Given the description of an element on the screen output the (x, y) to click on. 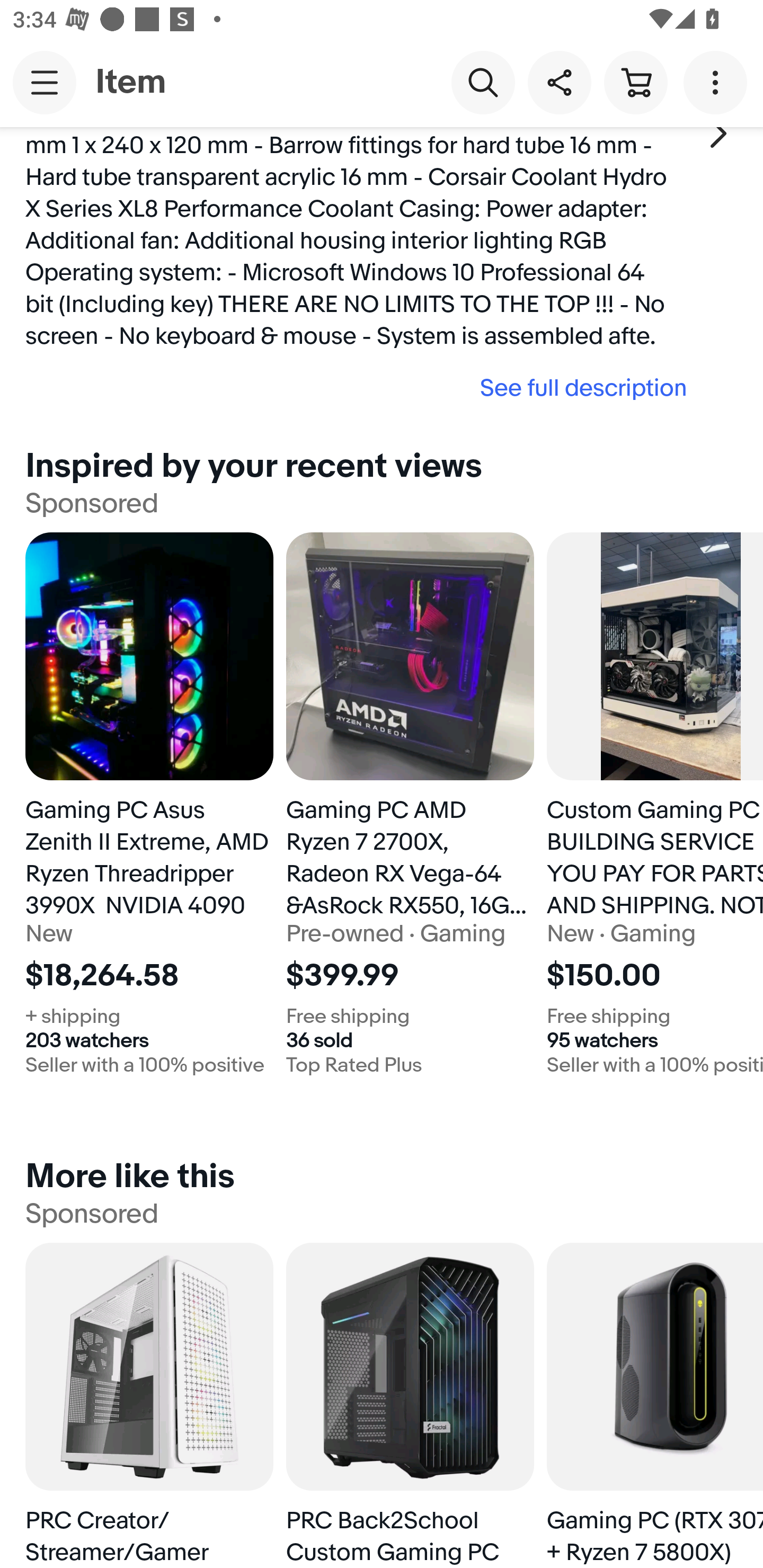
Main navigation, open (44, 82)
Search (482, 81)
Share this item (559, 81)
Cart button shopping cart (635, 81)
More options (718, 81)
See full description (362, 387)
Gaming PC (RTX 3070 + Ryzen 7 5800X) (655, 1405)
